Given the description of an element on the screen output the (x, y) to click on. 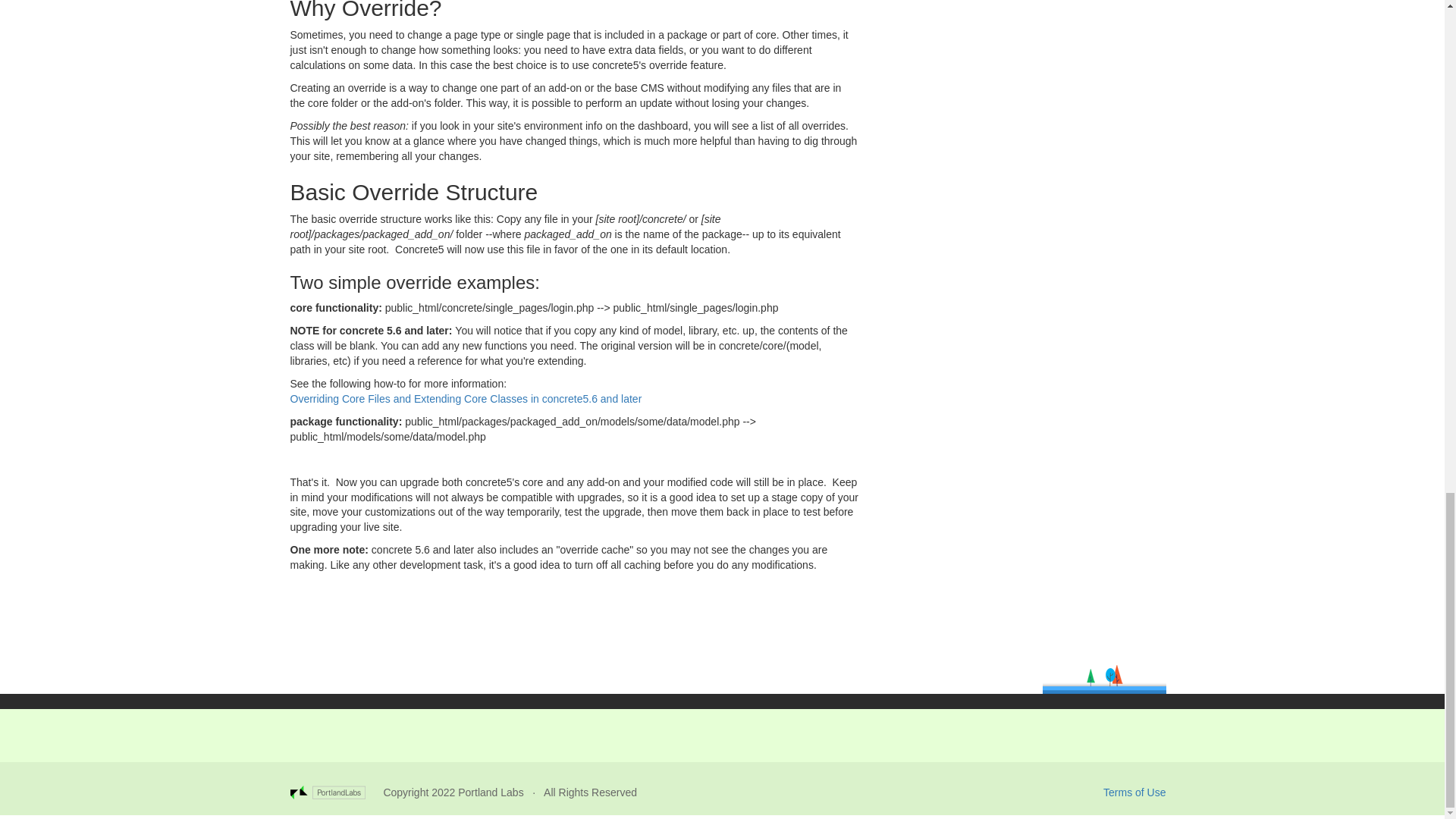
PORTLAND LABS (335, 792)
Portland Labs (490, 792)
